Given the description of an element on the screen output the (x, y) to click on. 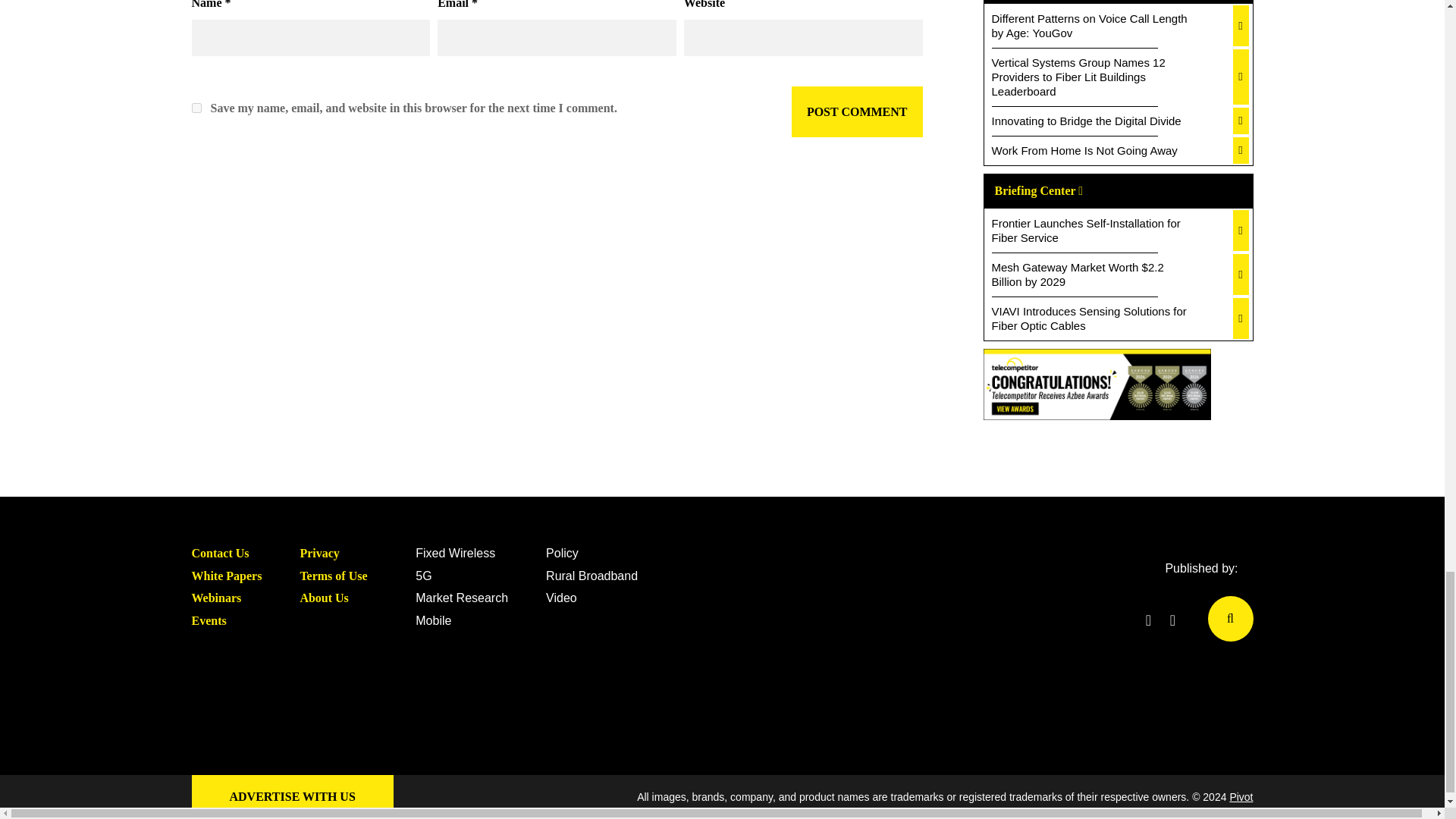
Telecompetitor Wins Azbee Award (1095, 386)
yes (195, 108)
Post Comment (857, 112)
